Given the description of an element on the screen output the (x, y) to click on. 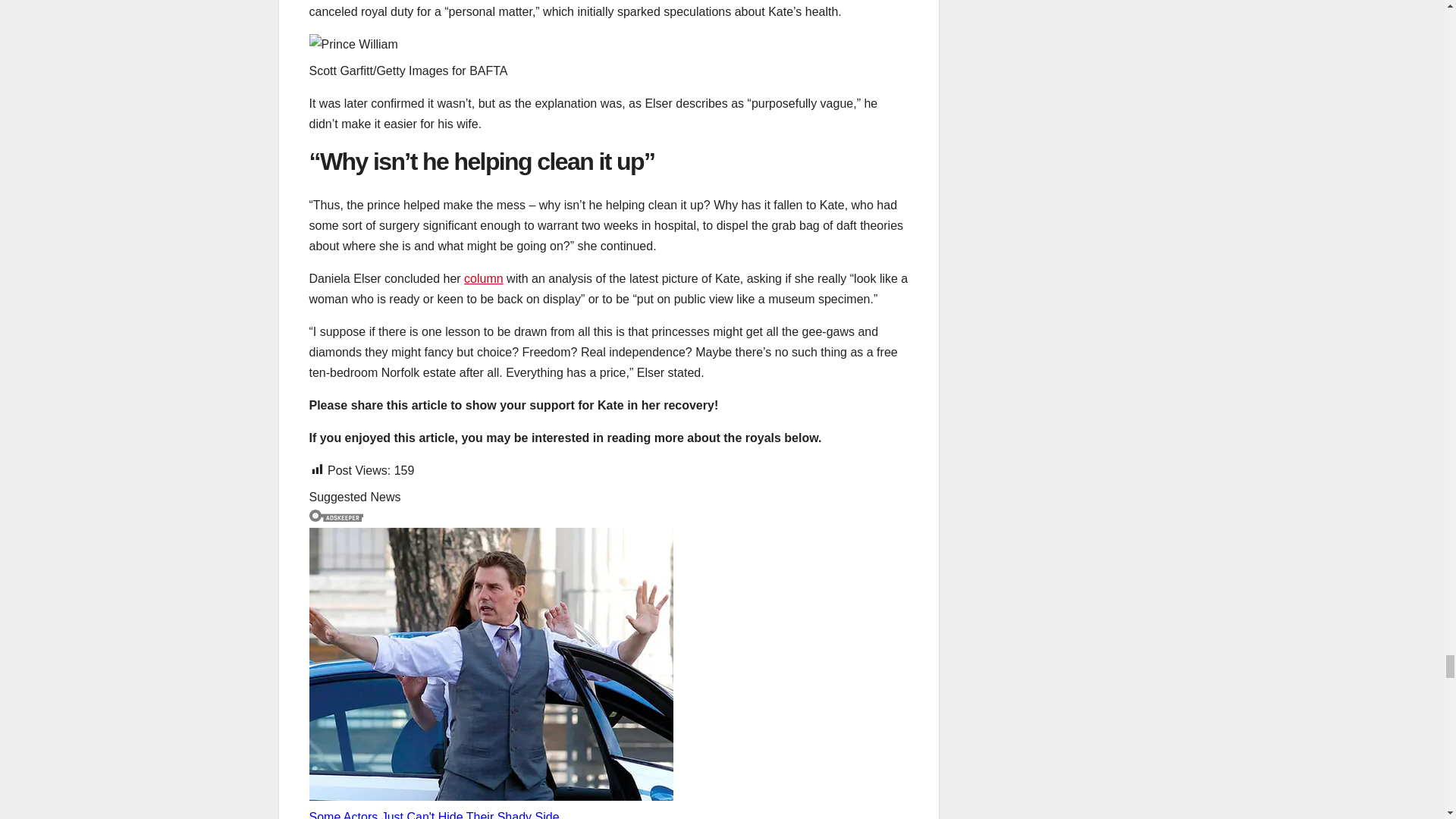
column (483, 278)
